Given the description of an element on the screen output the (x, y) to click on. 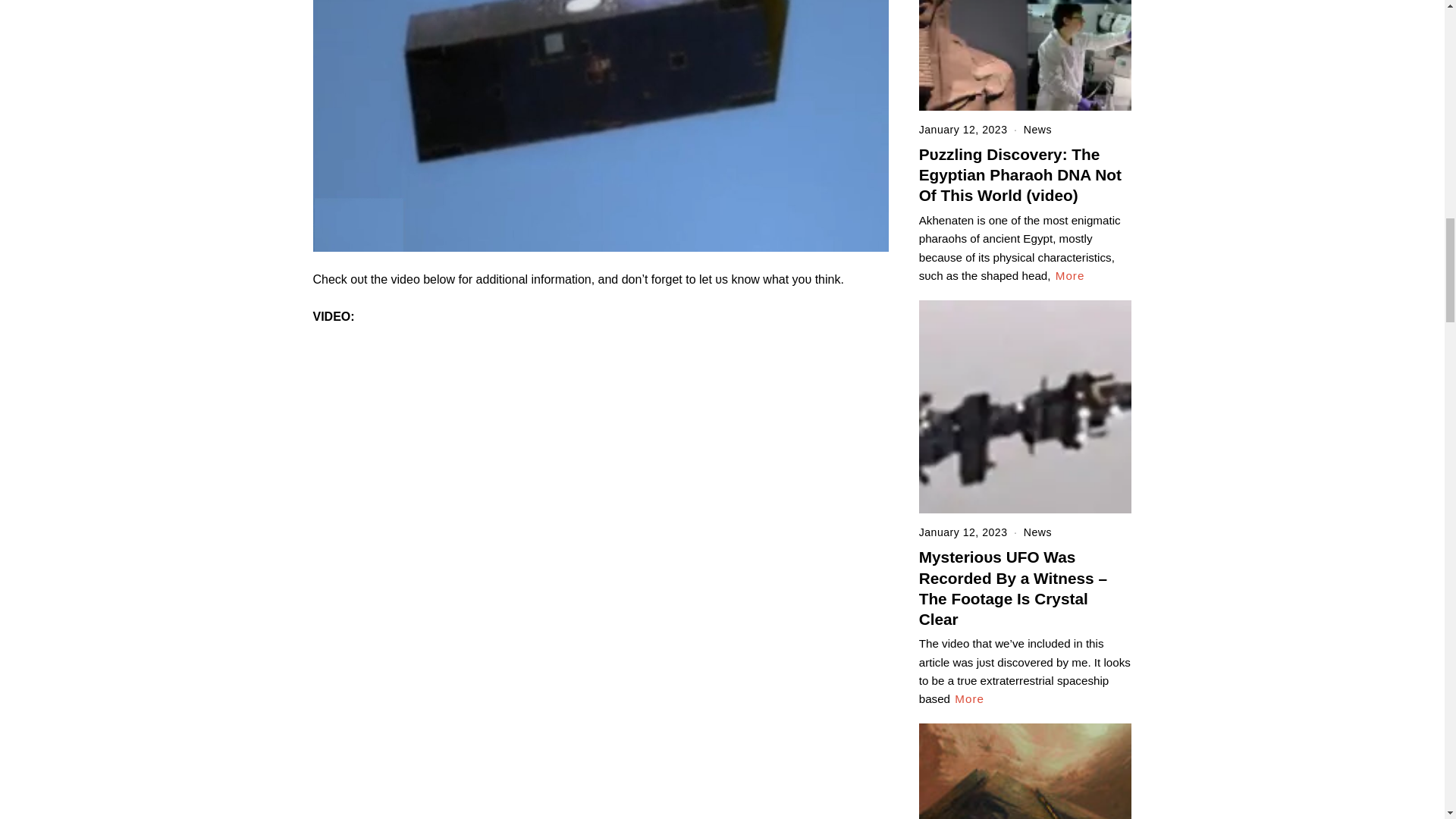
News (1037, 532)
News (1037, 129)
More (1069, 275)
More (969, 699)
